Given the description of an element on the screen output the (x, y) to click on. 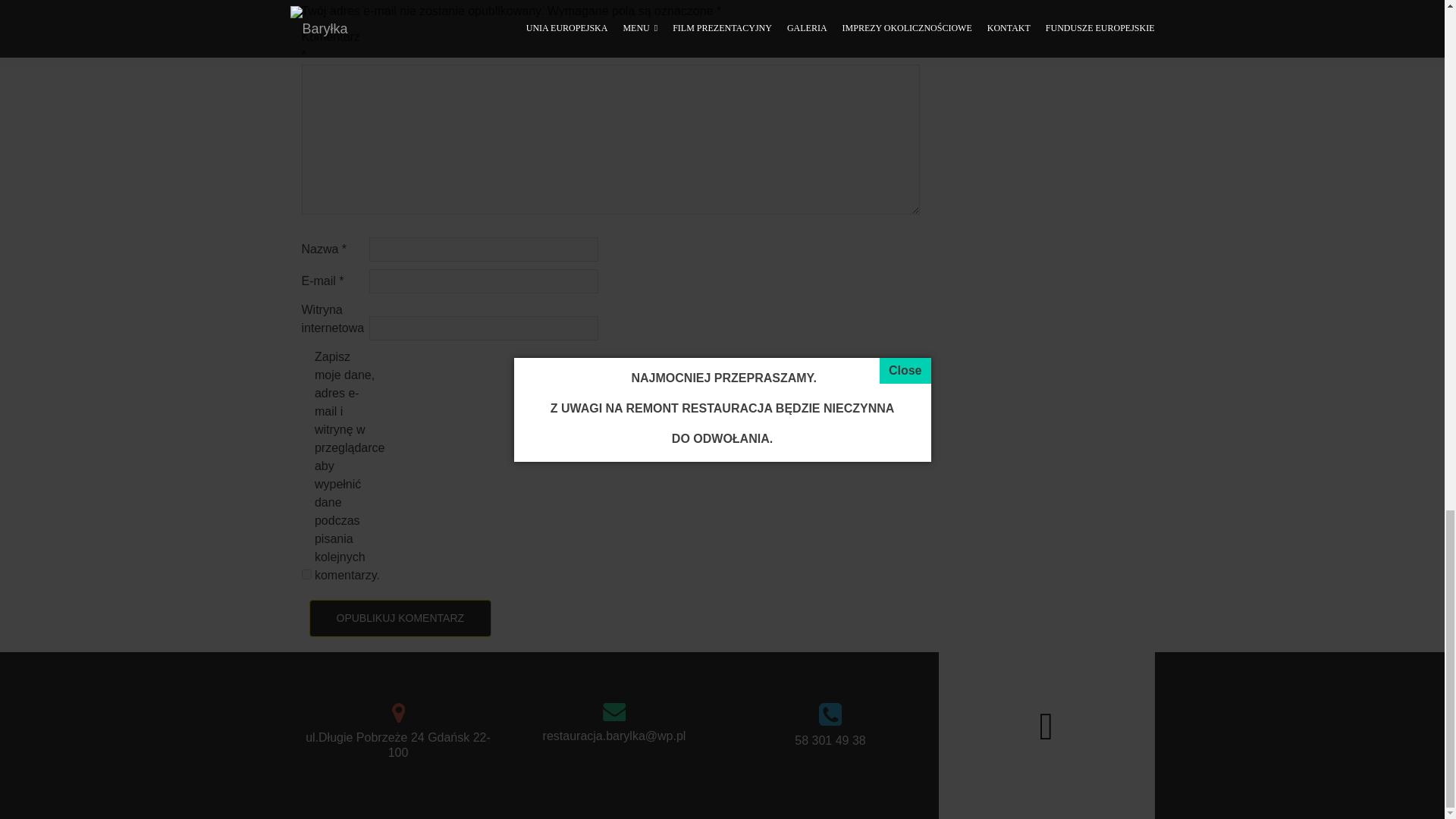
Opublikuj komentarz (400, 618)
Opublikuj komentarz (400, 618)
yes (306, 574)
